Given the description of an element on the screen output the (x, y) to click on. 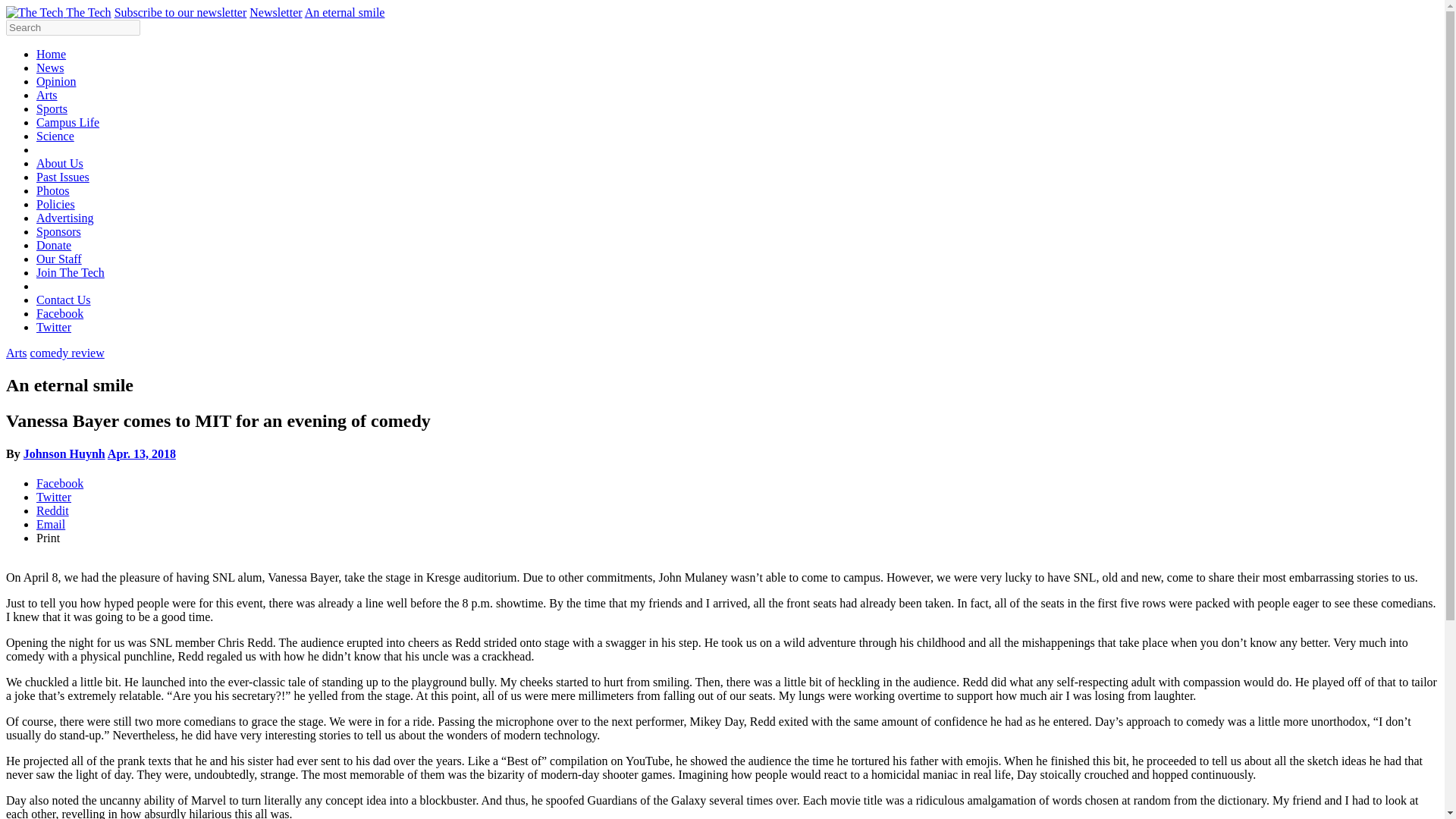
Arts (16, 352)
Johnson Huynh (63, 453)
Contact Us (63, 299)
Apr. 13, 2018 (141, 453)
The Tech (87, 11)
Opinion (55, 81)
Email (50, 523)
Sports (51, 108)
Campus Life (67, 122)
Reddit (52, 510)
